Given the description of an element on the screen output the (x, y) to click on. 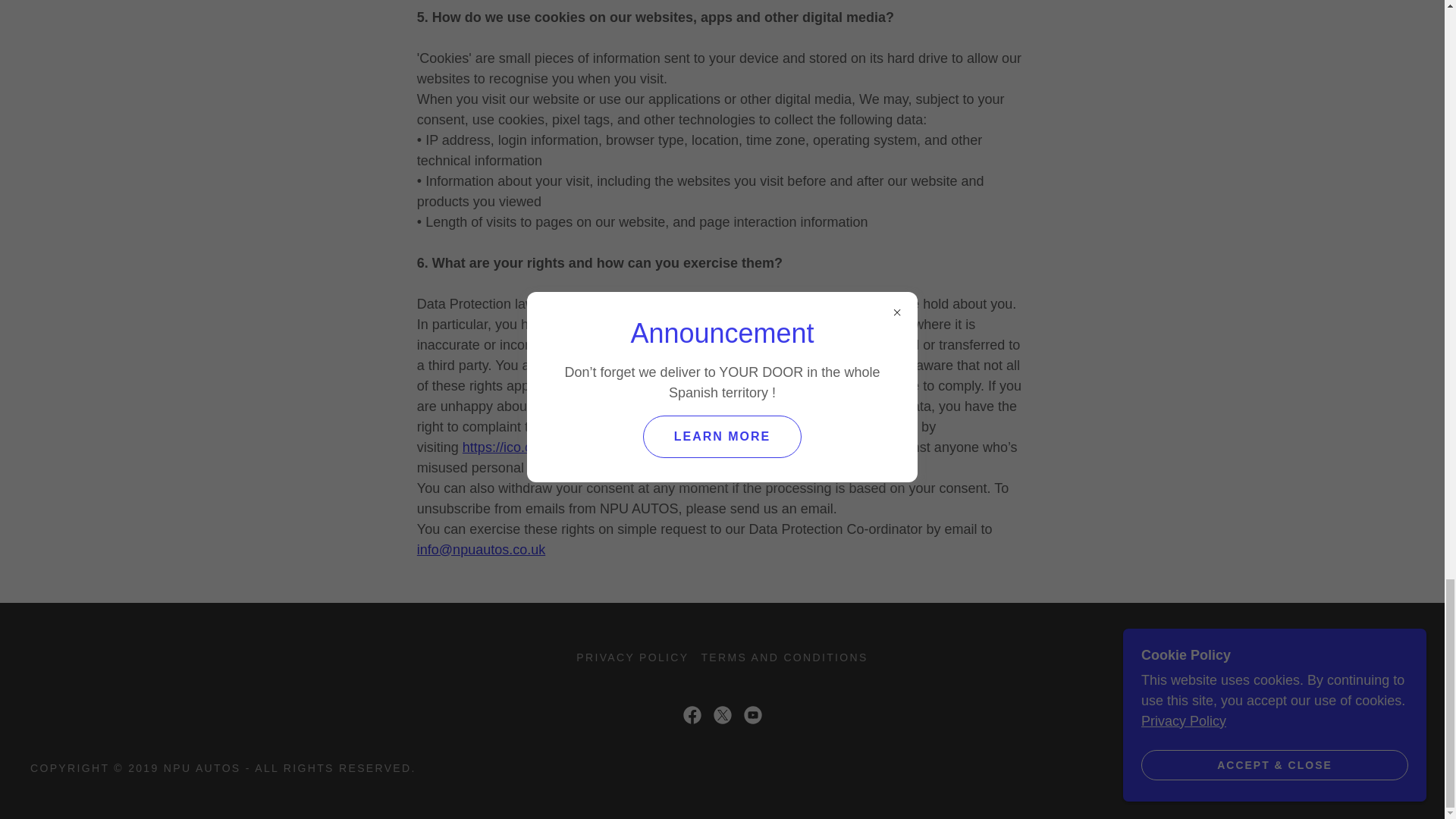
TERMS AND CONDITIONS (783, 657)
PRIVACY POLICY (632, 657)
GODADDY (1252, 767)
